Given the description of an element on the screen output the (x, y) to click on. 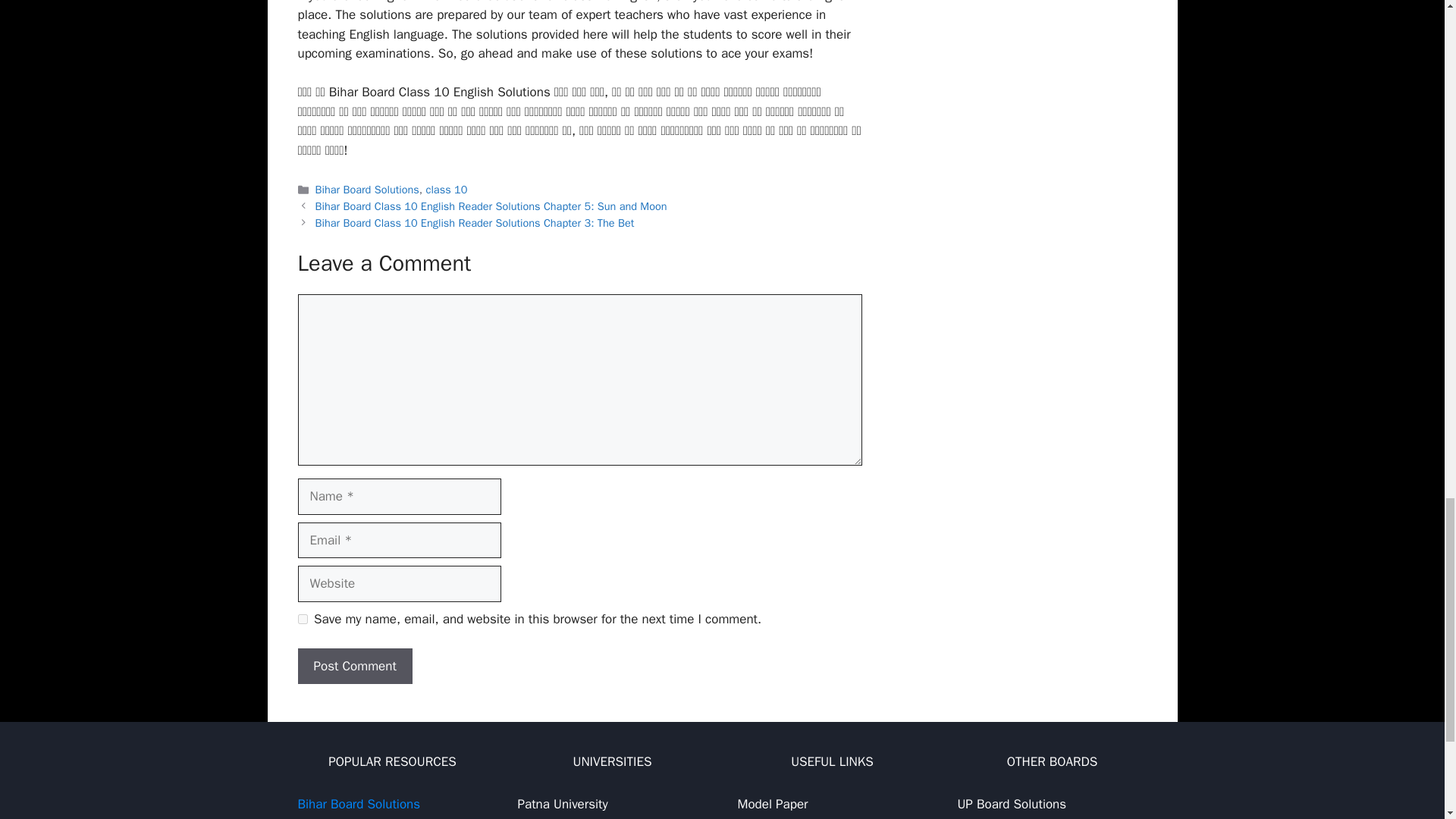
Bihar Board Solutions (367, 189)
yes (302, 619)
Post Comment (354, 666)
Bihar Board Solutions (358, 804)
Post Comment (354, 666)
class 10 (446, 189)
